Given the description of an element on the screen output the (x, y) to click on. 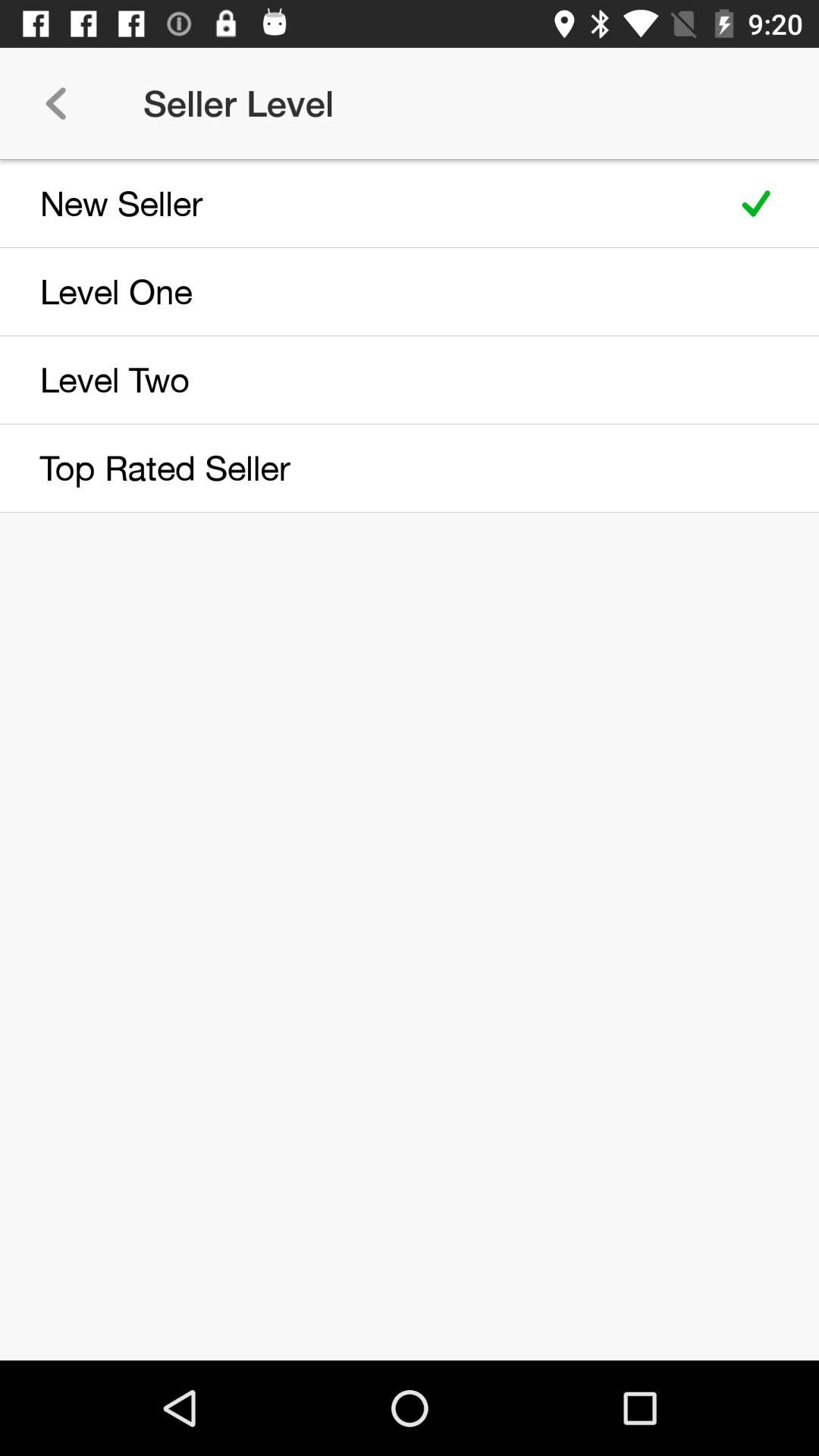
choose item below level one icon (358, 379)
